Given the description of an element on the screen output the (x, y) to click on. 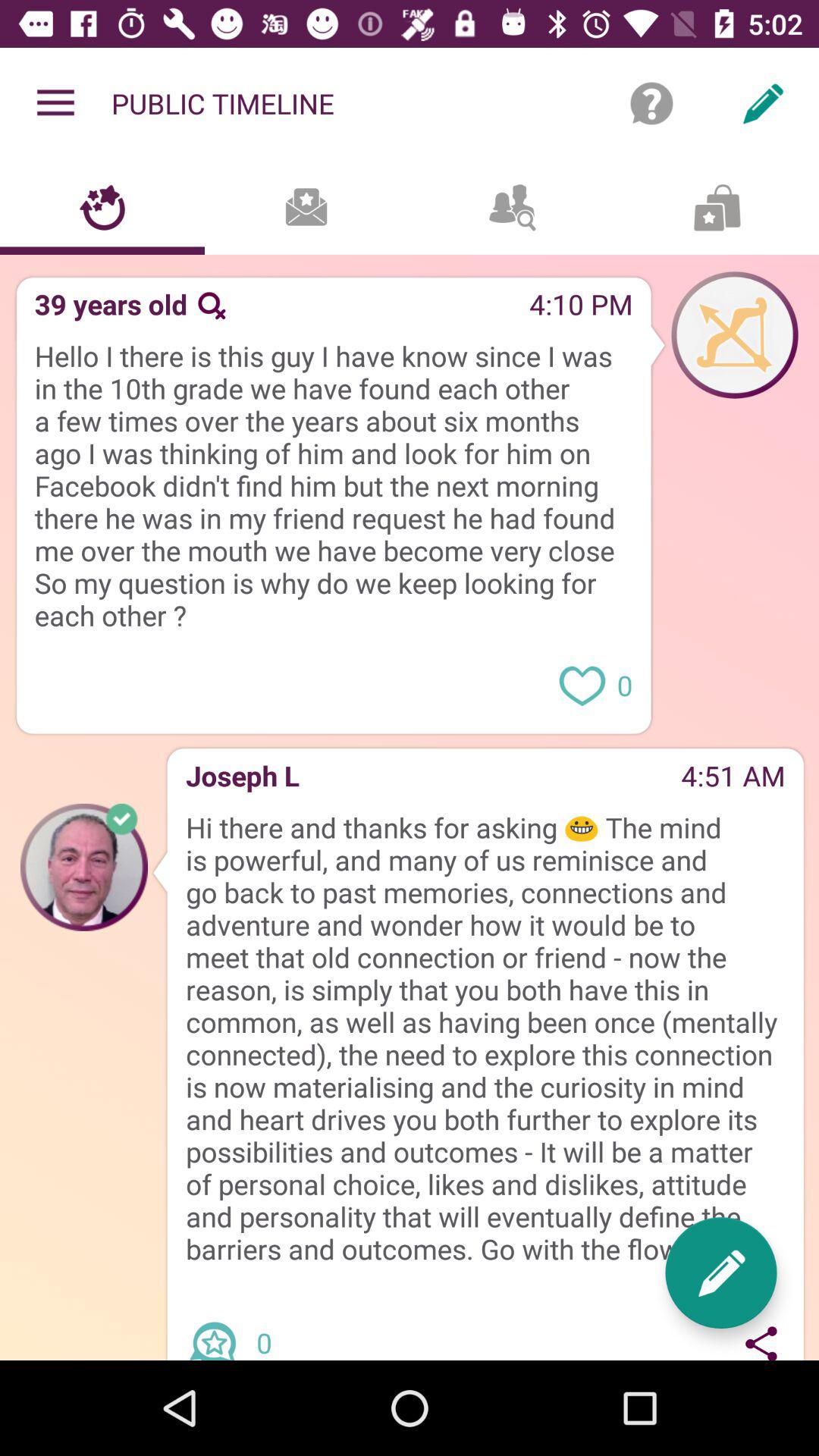
flip to joseph l (237, 780)
